Given the description of an element on the screen output the (x, y) to click on. 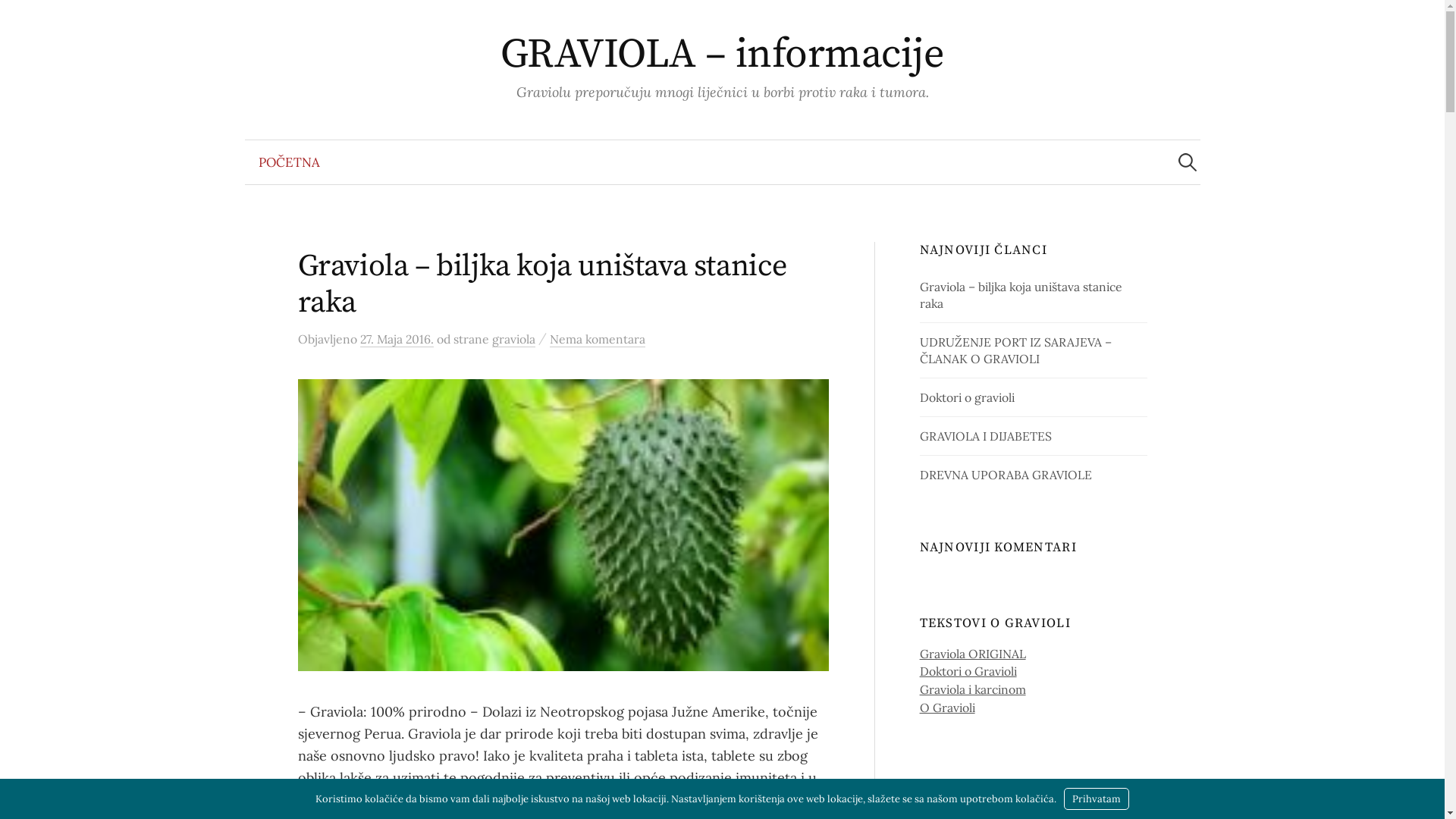
27. Maja 2016. Element type: text (396, 339)
Graviola ORIGINAL Element type: text (972, 653)
Doktori o Gravioli Element type: text (967, 670)
O Gravioli Element type: text (947, 707)
DREVNA UPORABA GRAVIOLE Element type: text (1005, 474)
Pretraga Element type: text (18, 18)
GRAVIOLA I DIJABETES Element type: text (985, 435)
Prihvatam Element type: text (1096, 798)
Doktori o gravioli Element type: text (966, 396)
Graviola i karcinom Element type: text (972, 688)
graviola Element type: text (512, 339)
